Given the description of an element on the screen output the (x, y) to click on. 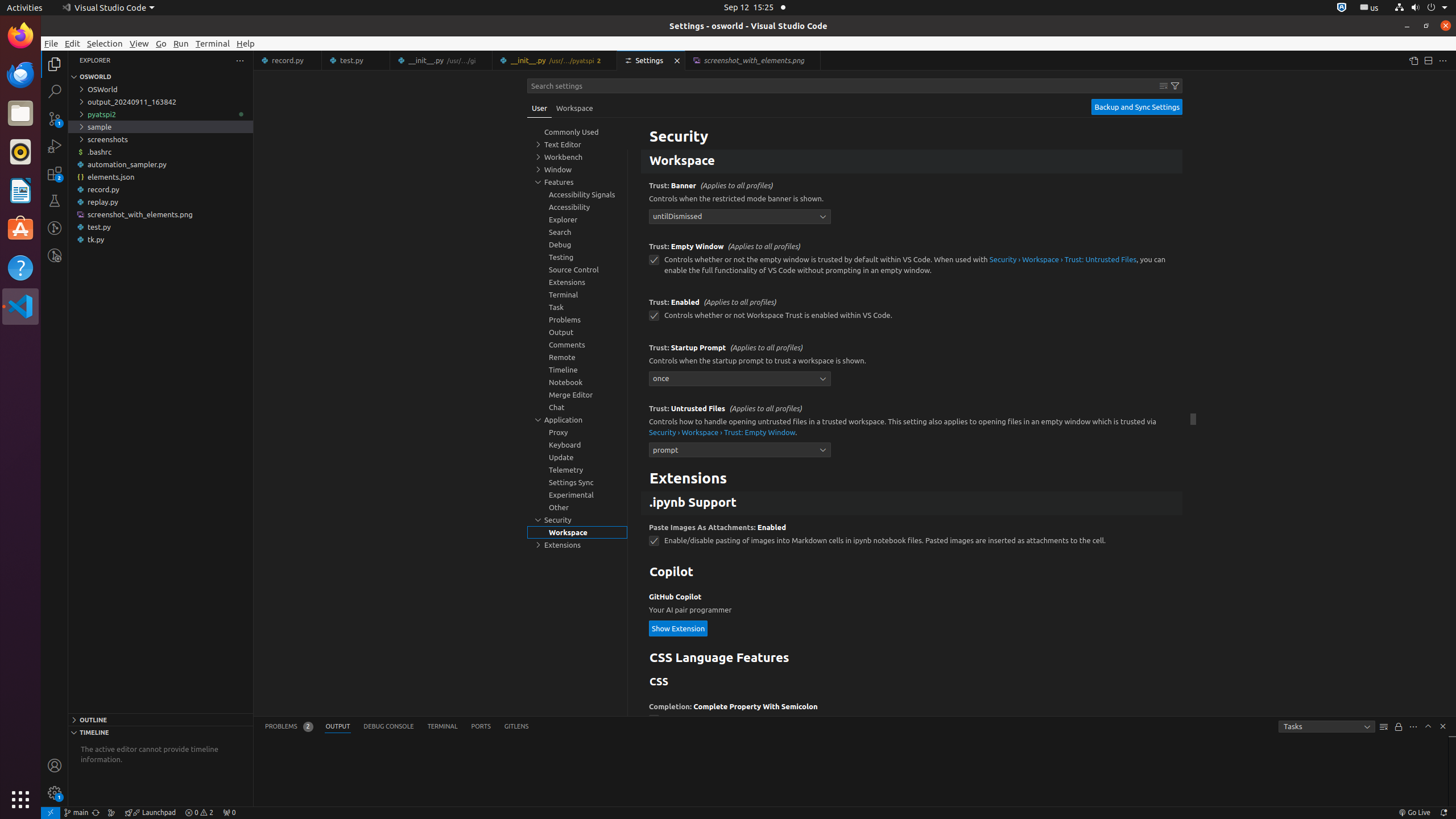
Extensions (Ctrl+Shift+X) - 2 require restart Extensions (Ctrl+Shift+X) - 2 require restart Element type: page-tab (54, 173)
Output (Ctrl+K Ctrl+H) Element type: page-tab (337, 726)
Output, group Element type: tree-item (577, 331)
